Given the description of an element on the screen output the (x, y) to click on. 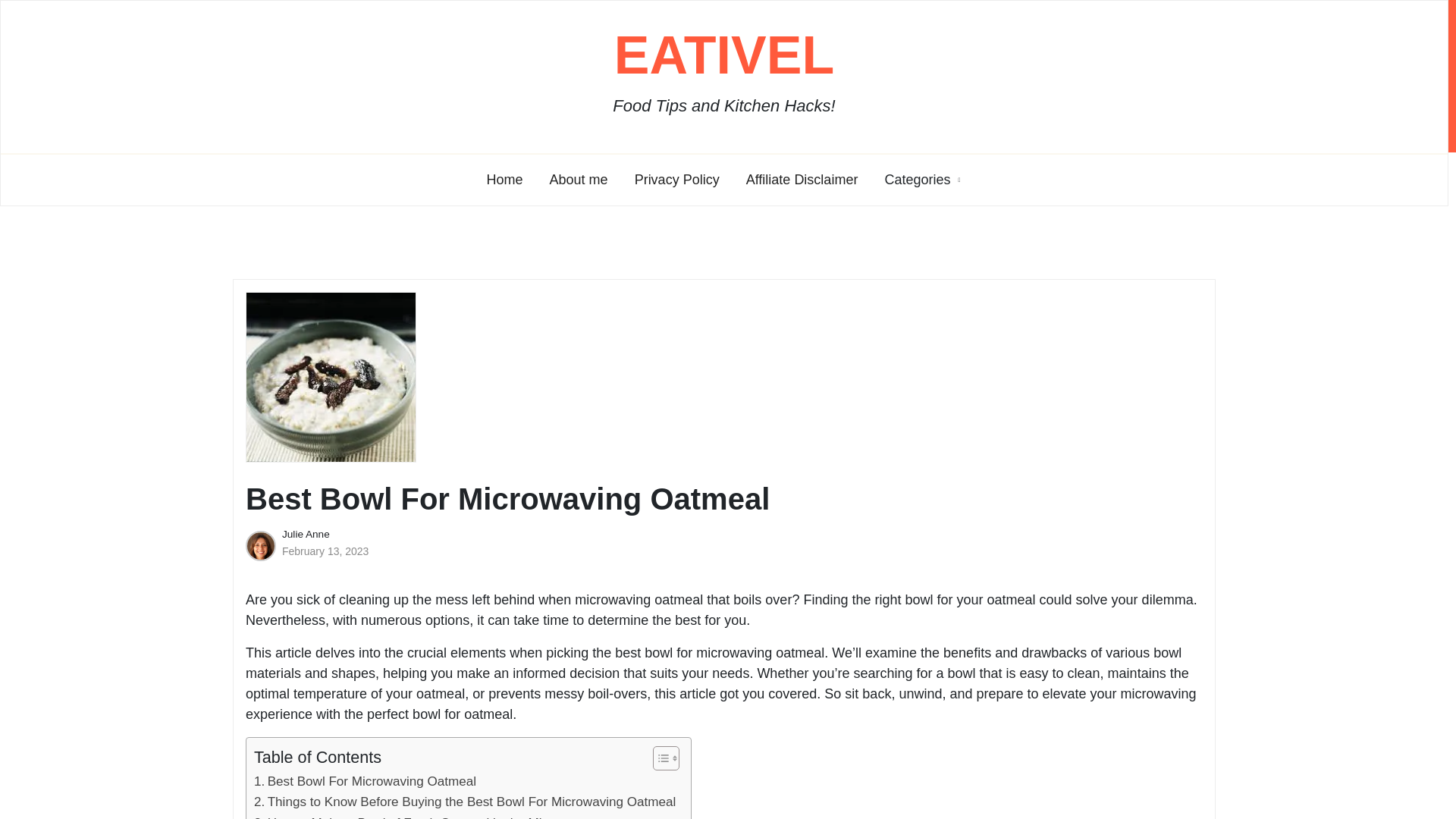
About me (579, 179)
Categories (916, 179)
How to Make a Bowl of Fresh Oatmeal in the Microwave (421, 816)
Home (505, 179)
Best Bowl For Microwaving Oatmeal (364, 781)
Privacy Policy (676, 179)
Affiliate Disclaimer (802, 179)
EATIVEL (724, 54)
